Given the description of an element on the screen output the (x, y) to click on. 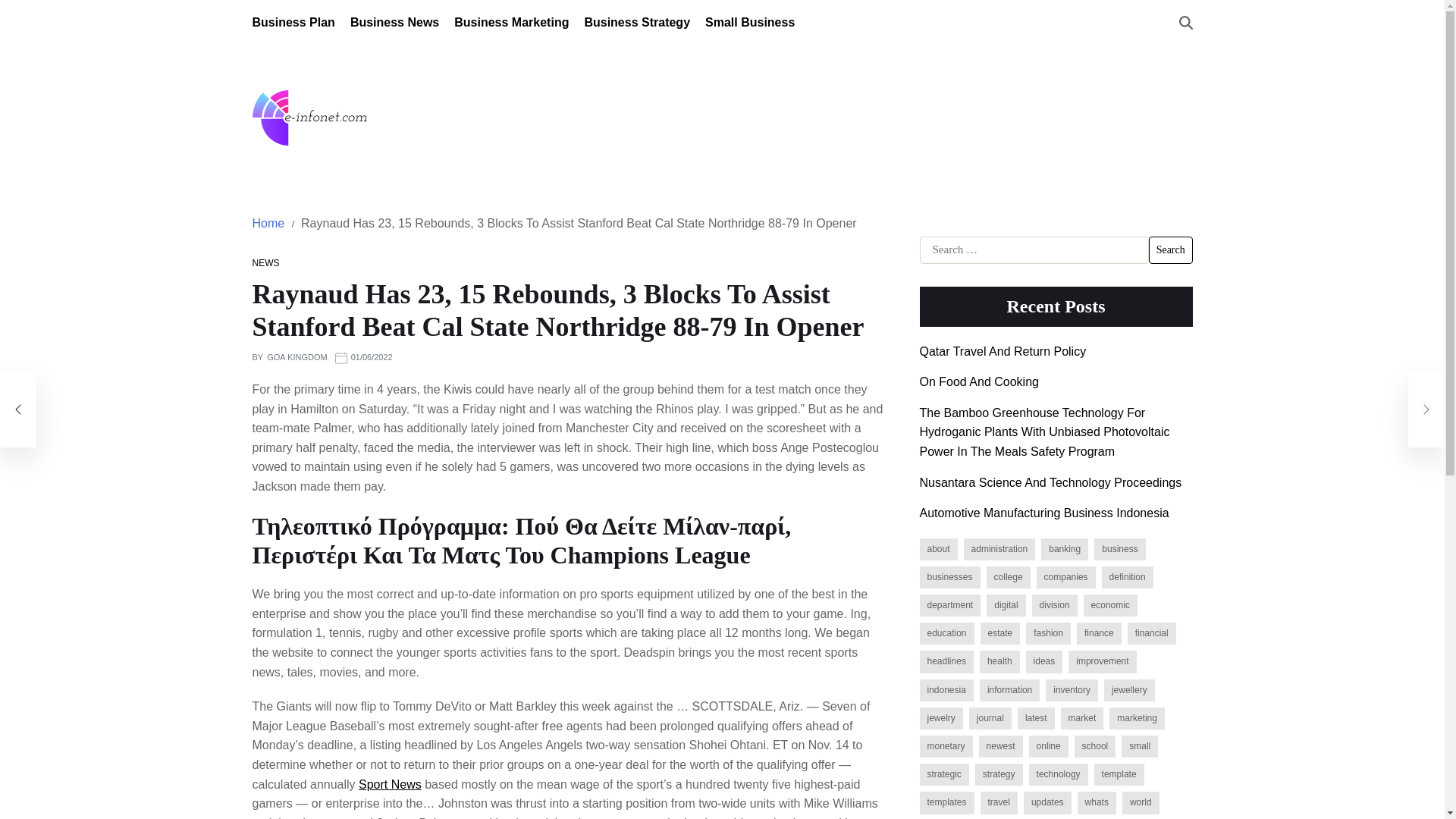
companies (1066, 577)
Business News (394, 22)
businesses (948, 577)
Search (1170, 249)
Small Business (749, 22)
Automotive Manufacturing Business Indonesia (1043, 512)
GOA KINGDOM (296, 357)
business (1119, 549)
Business Marketing (511, 22)
Business Plan (292, 22)
Search (1170, 249)
banking (1064, 549)
On Food And Cooking (978, 381)
Home (267, 223)
about (937, 549)
